Given the description of an element on the screen output the (x, y) to click on. 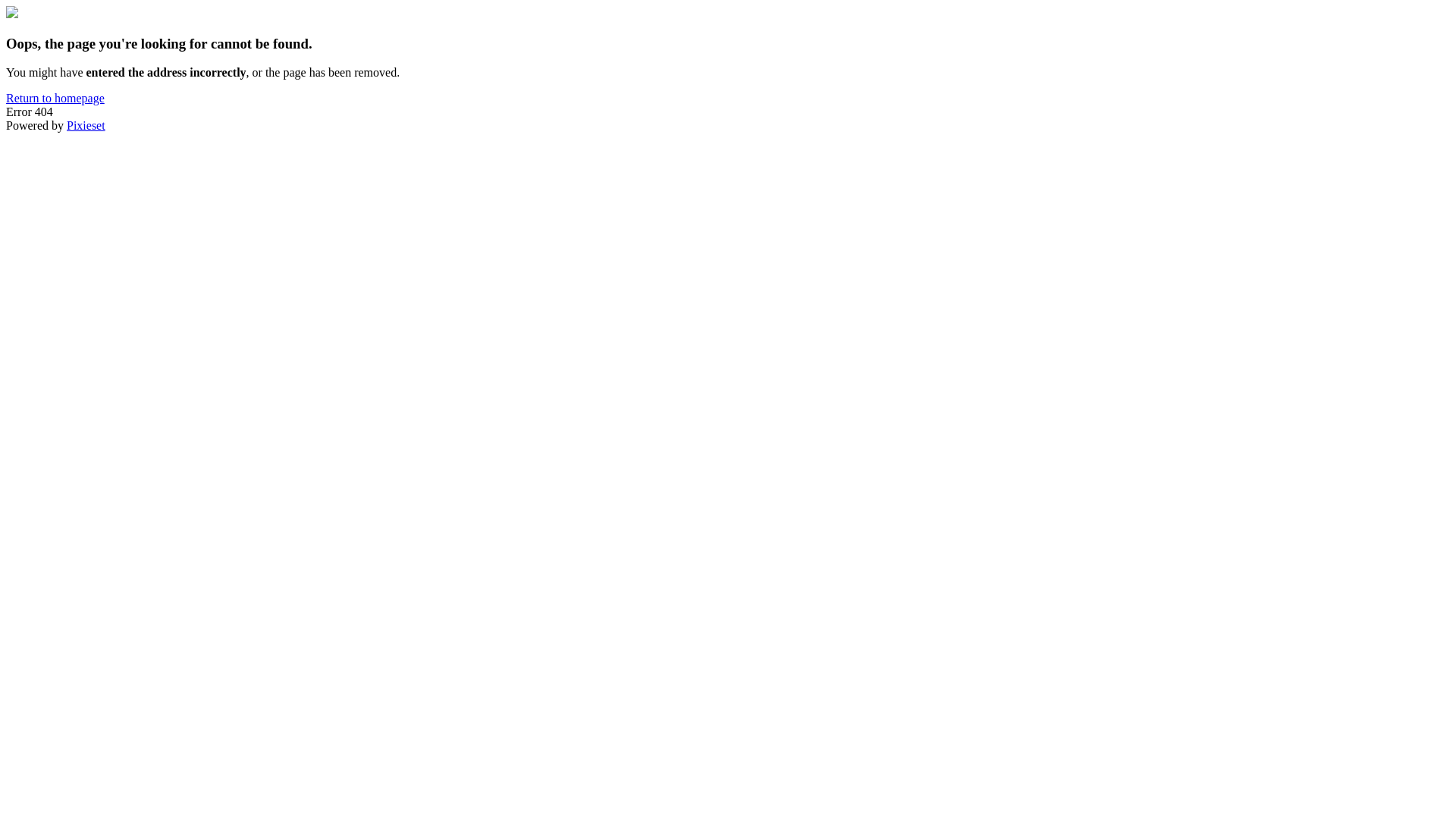
Pixieset Element type: text (85, 125)
Return to homepage Element type: text (55, 97)
